Given the description of an element on the screen output the (x, y) to click on. 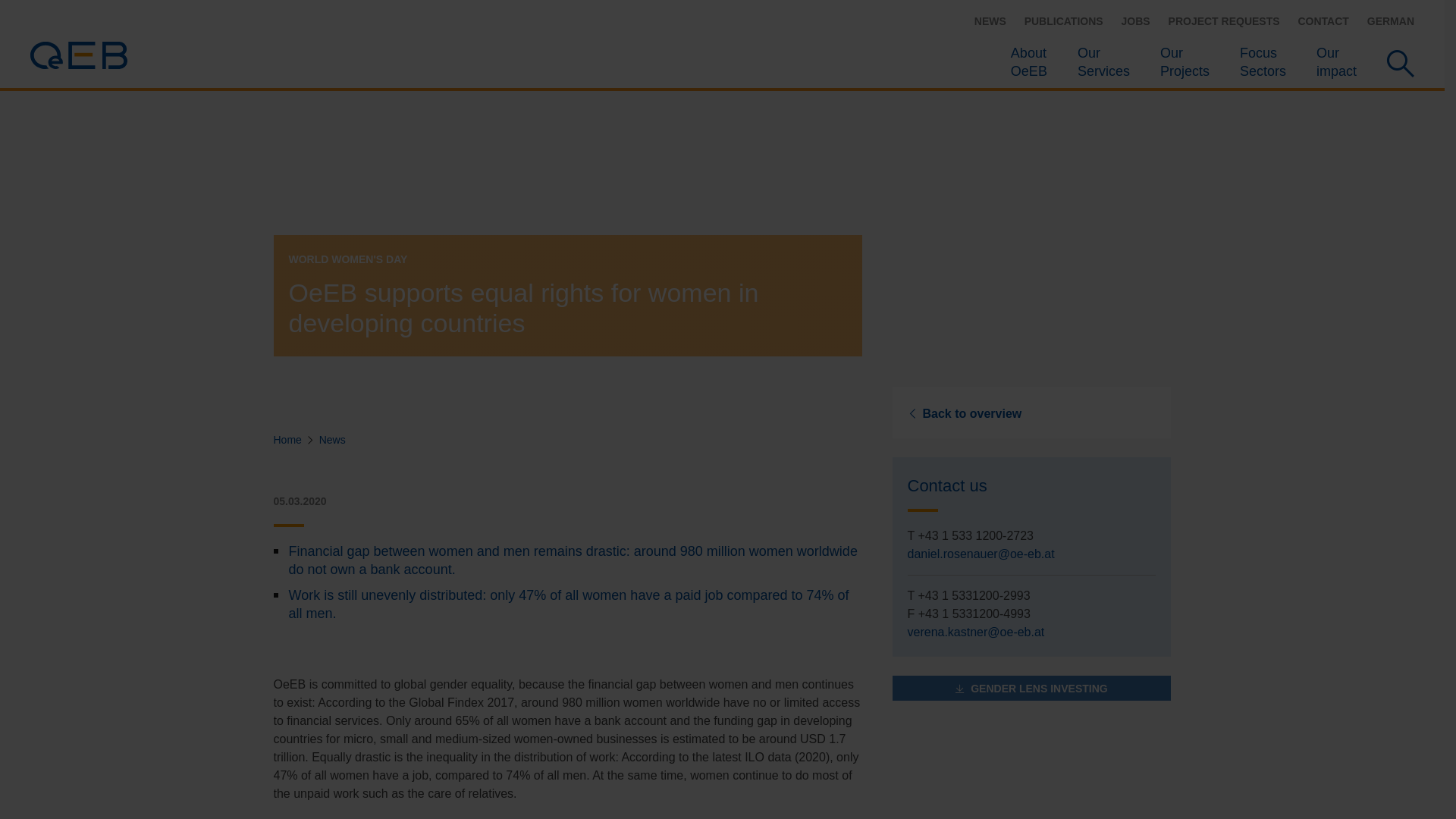
PUBLICATIONS (1064, 21)
Contact (1028, 62)
News (1322, 21)
Gender Lens Investing (990, 21)
JOBS (1030, 688)
GERMAN (1135, 21)
PROJECT REQUESTS (1336, 62)
NEWS (1390, 21)
CONTACT (1262, 62)
Jobs (1224, 21)
Publications (990, 21)
